Given the description of an element on the screen output the (x, y) to click on. 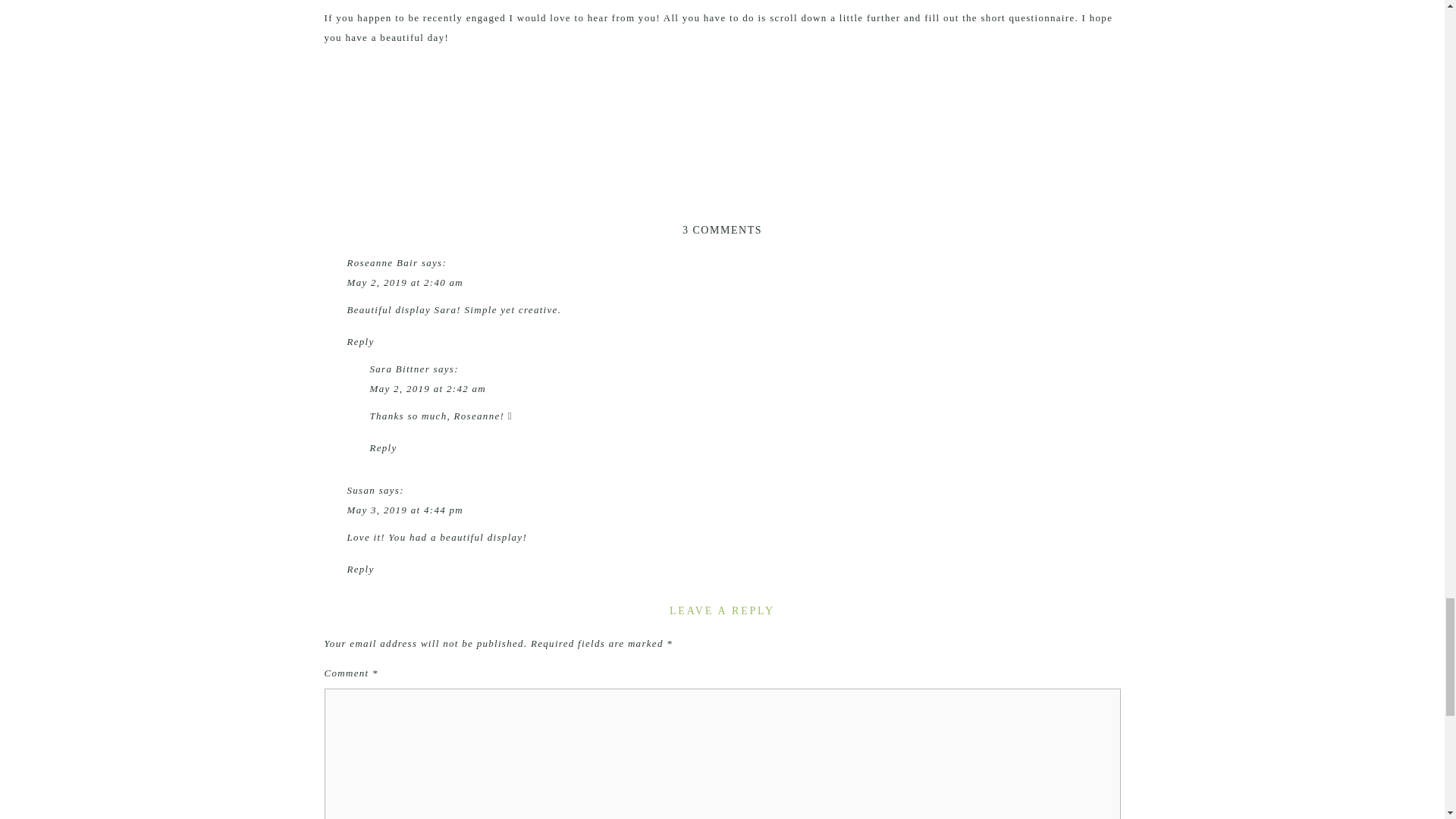
Reply (360, 341)
Reply (360, 568)
May 2, 2019 at 2:42 am (427, 388)
Reply (383, 447)
May 2, 2019 at 2:40 am (405, 282)
May 3, 2019 at 4:44 pm (405, 509)
